Given the description of an element on the screen output the (x, y) to click on. 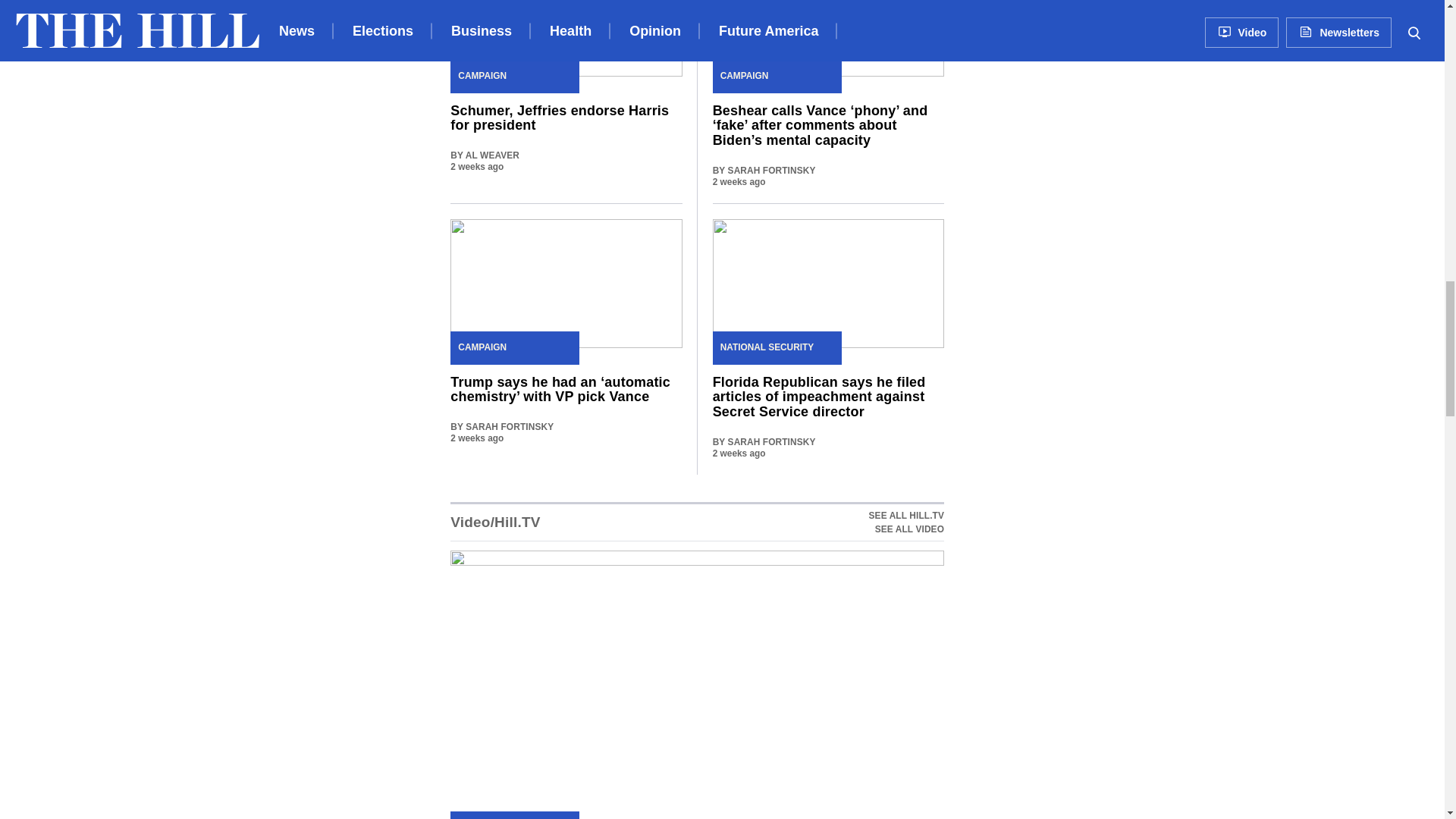
SEE ALL VIDEO (906, 529)
SEE ALL HILL.TV (906, 522)
